Given the description of an element on the screen output the (x, y) to click on. 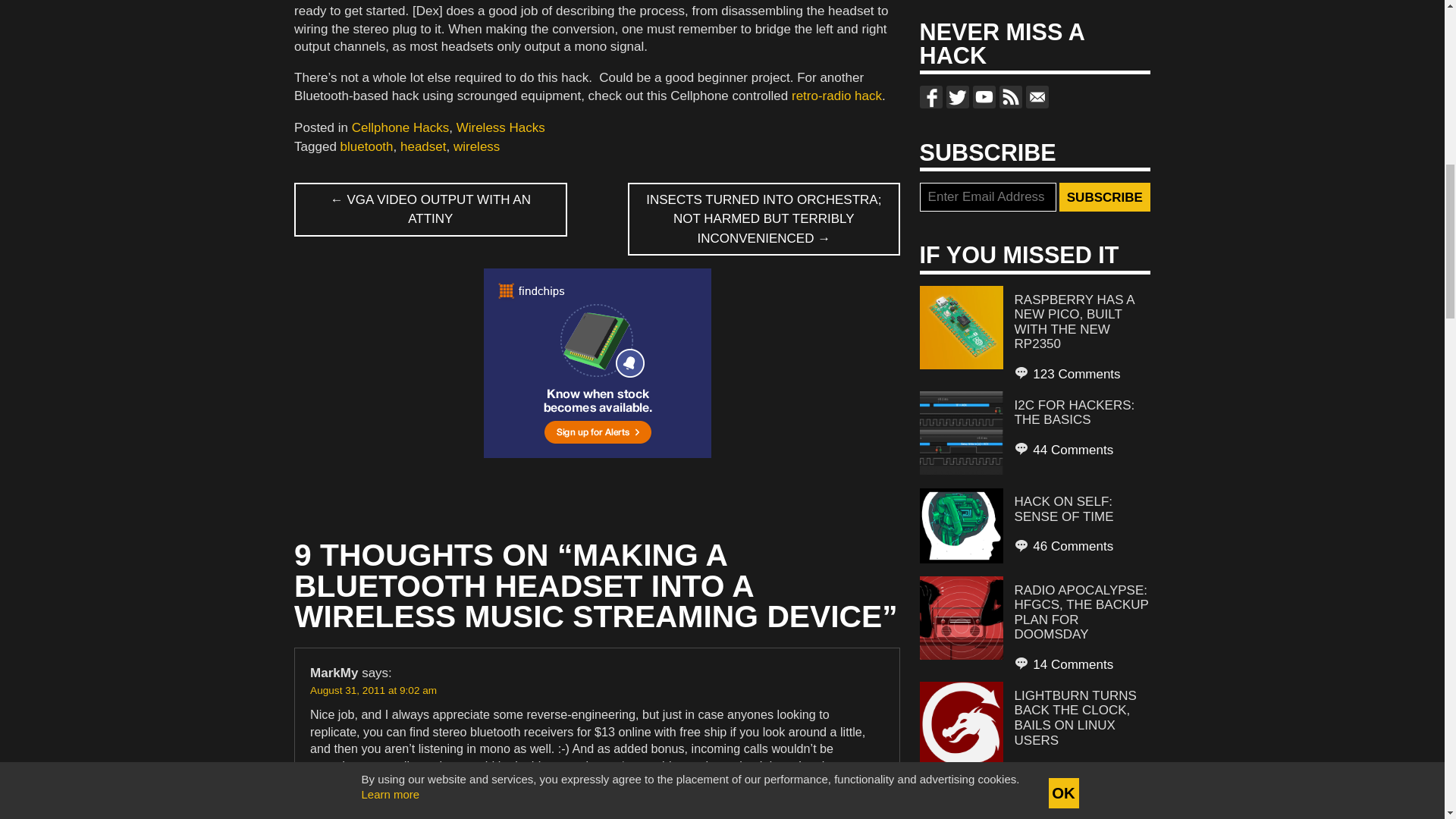
Cellphone Hacks (400, 127)
wireless (475, 146)
retro-radio hack (837, 95)
Report comment (845, 813)
Subscribe (1104, 196)
headset (423, 146)
bluetooth (366, 146)
August 31, 2011 at 9:02 am (373, 690)
Wireless Hacks (500, 127)
